Given the description of an element on the screen output the (x, y) to click on. 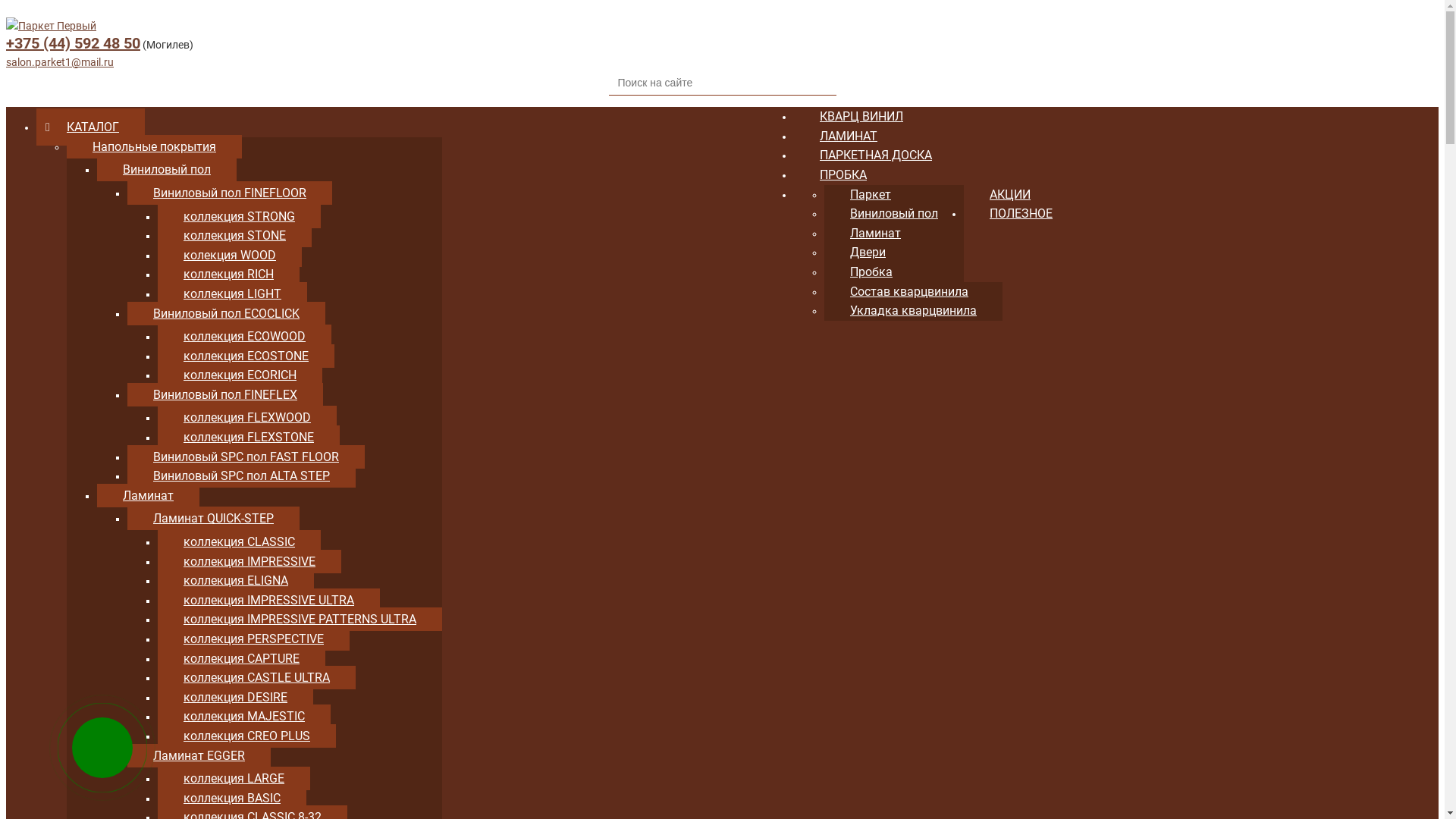
+375 (44) 592 48 50 Element type: text (73, 43)
salon.parket1@mail.ru Element type: text (59, 62)
